Given the description of an element on the screen output the (x, y) to click on. 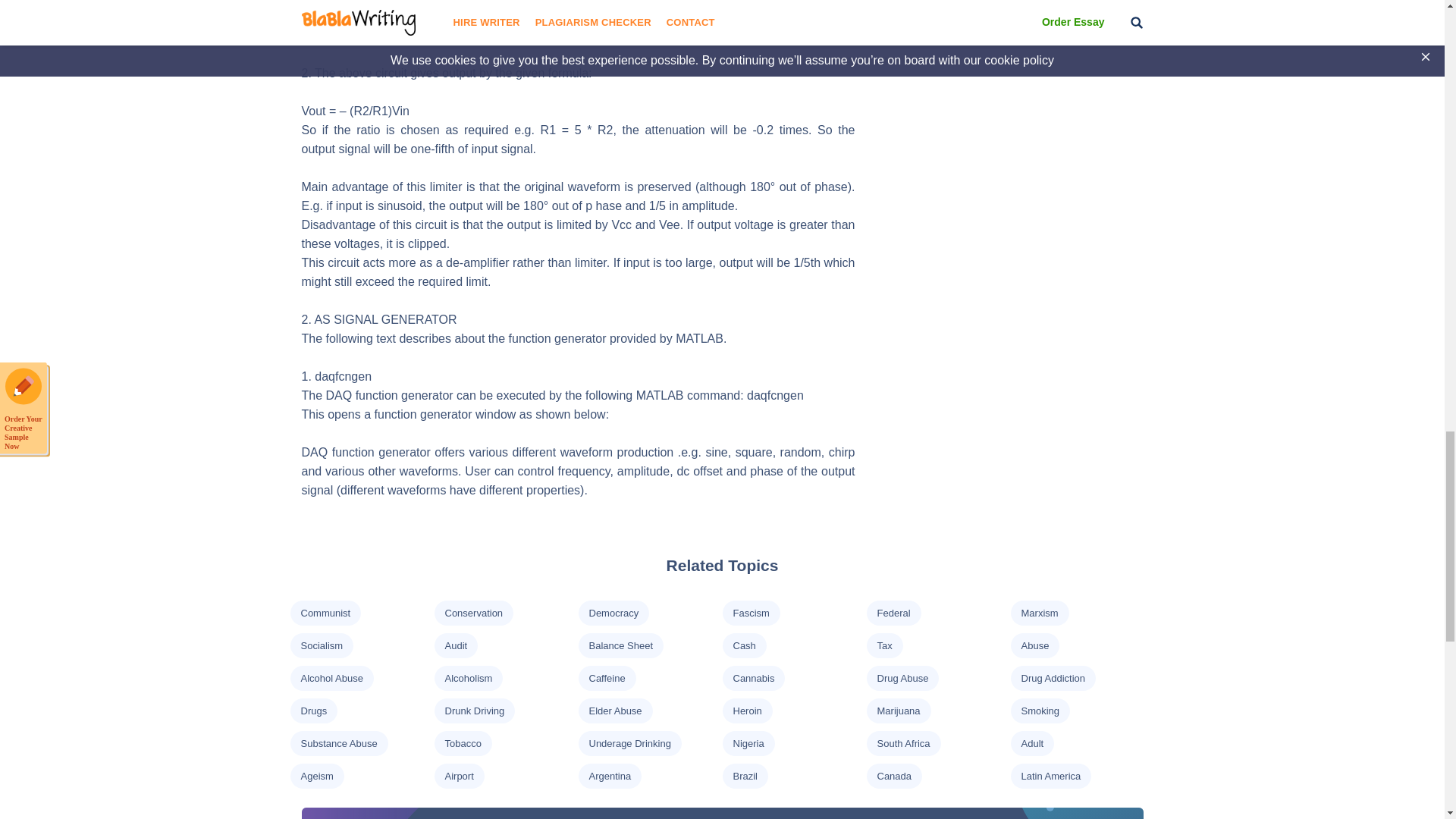
Abuse (1034, 645)
Federal (893, 613)
Democracy (613, 613)
Cash (743, 645)
Communist (324, 613)
Socialism (320, 645)
Tax (883, 645)
Audit (455, 645)
Marxism (1039, 613)
Fascism (750, 613)
Conservation (473, 613)
Balance Sheet (620, 645)
